Given the description of an element on the screen output the (x, y) to click on. 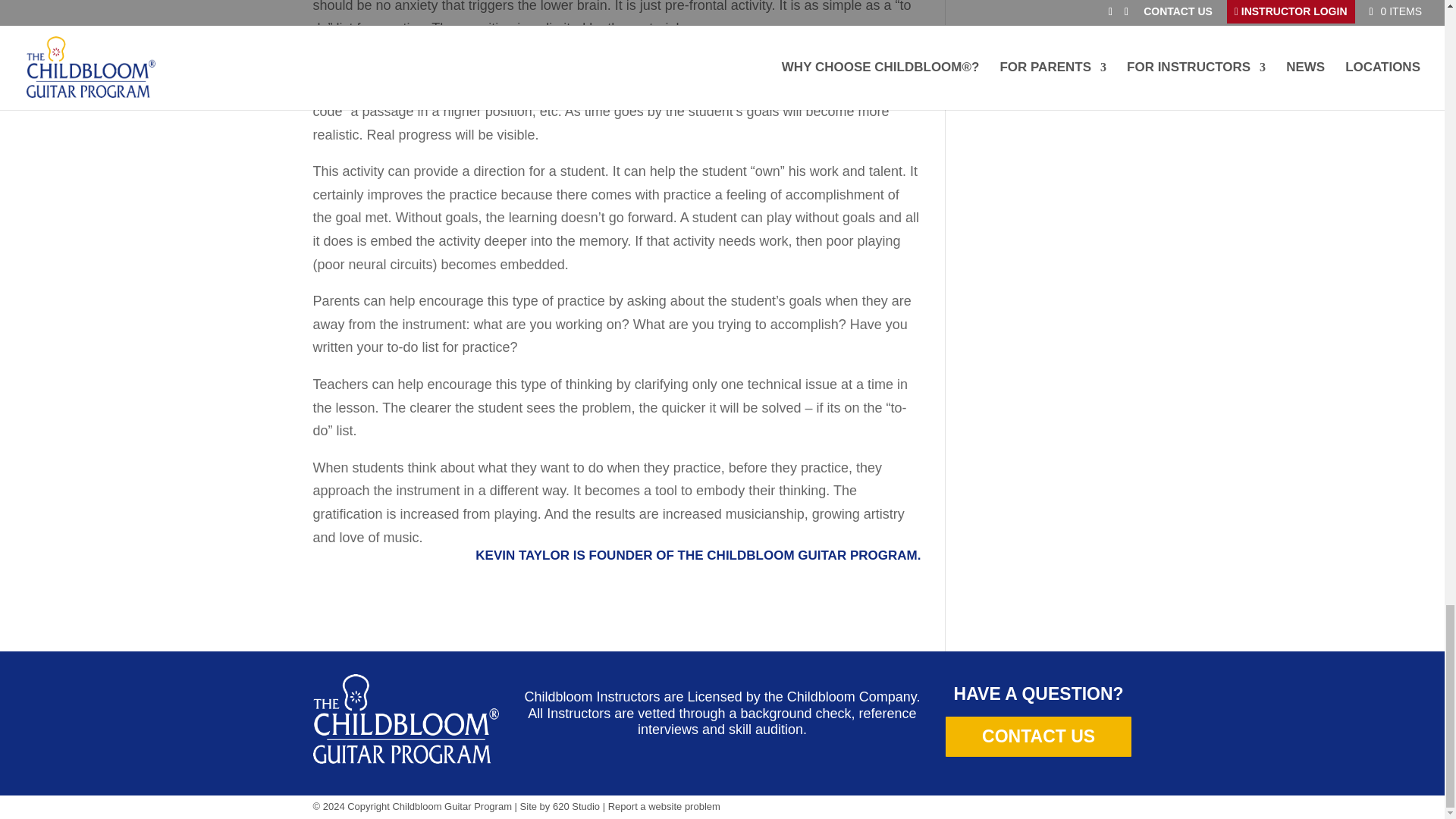
childbloom-logo-white (406, 718)
CONTACT US (1038, 736)
620 Studio (576, 806)
